Given the description of an element on the screen output the (x, y) to click on. 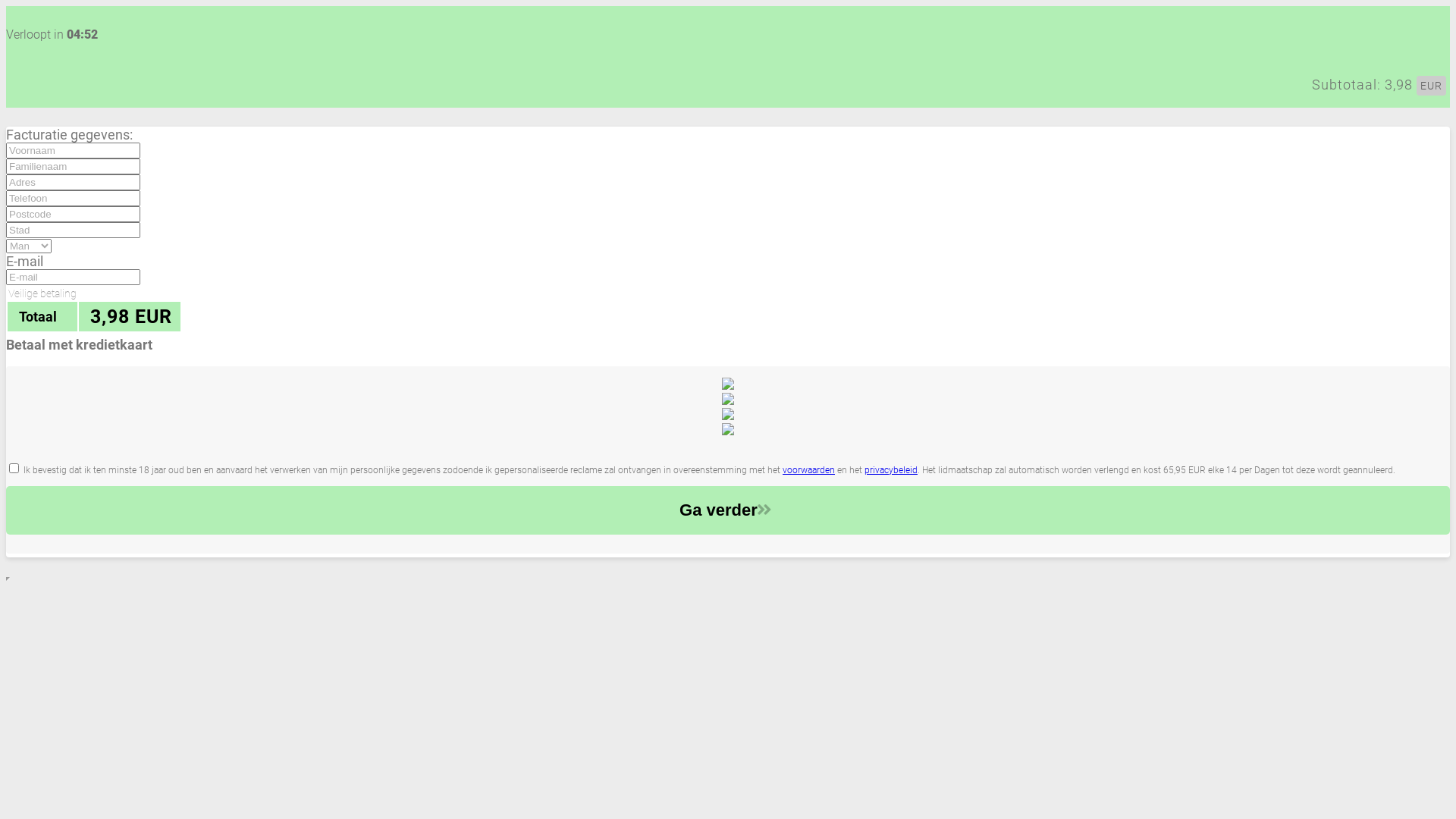
voorwaarden Element type: text (808, 469)
privacybeleid Element type: text (890, 469)
Ga verder Element type: text (727, 510)
